Given the description of an element on the screen output the (x, y) to click on. 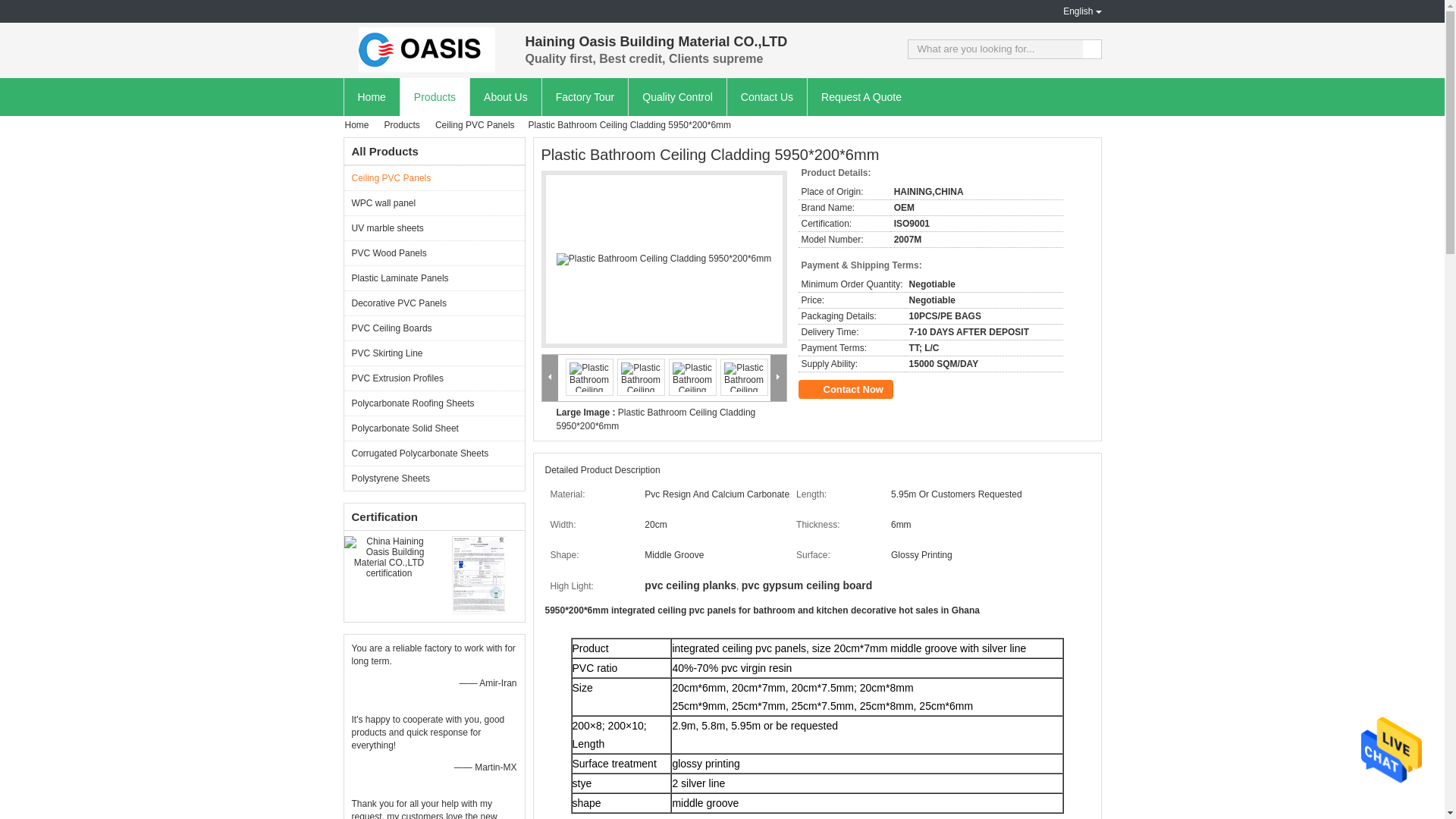
Ceiling PVC Panels (433, 177)
Products (433, 96)
Polycarbonate Solid Sheet (433, 427)
PVC Wood Panels (433, 252)
Home (370, 96)
Ceiling PVC Panels (476, 124)
English (1070, 10)
Polystyrene Sheets (433, 478)
Contact Us (766, 96)
Factory Tour (584, 96)
